Given the description of an element on the screen output the (x, y) to click on. 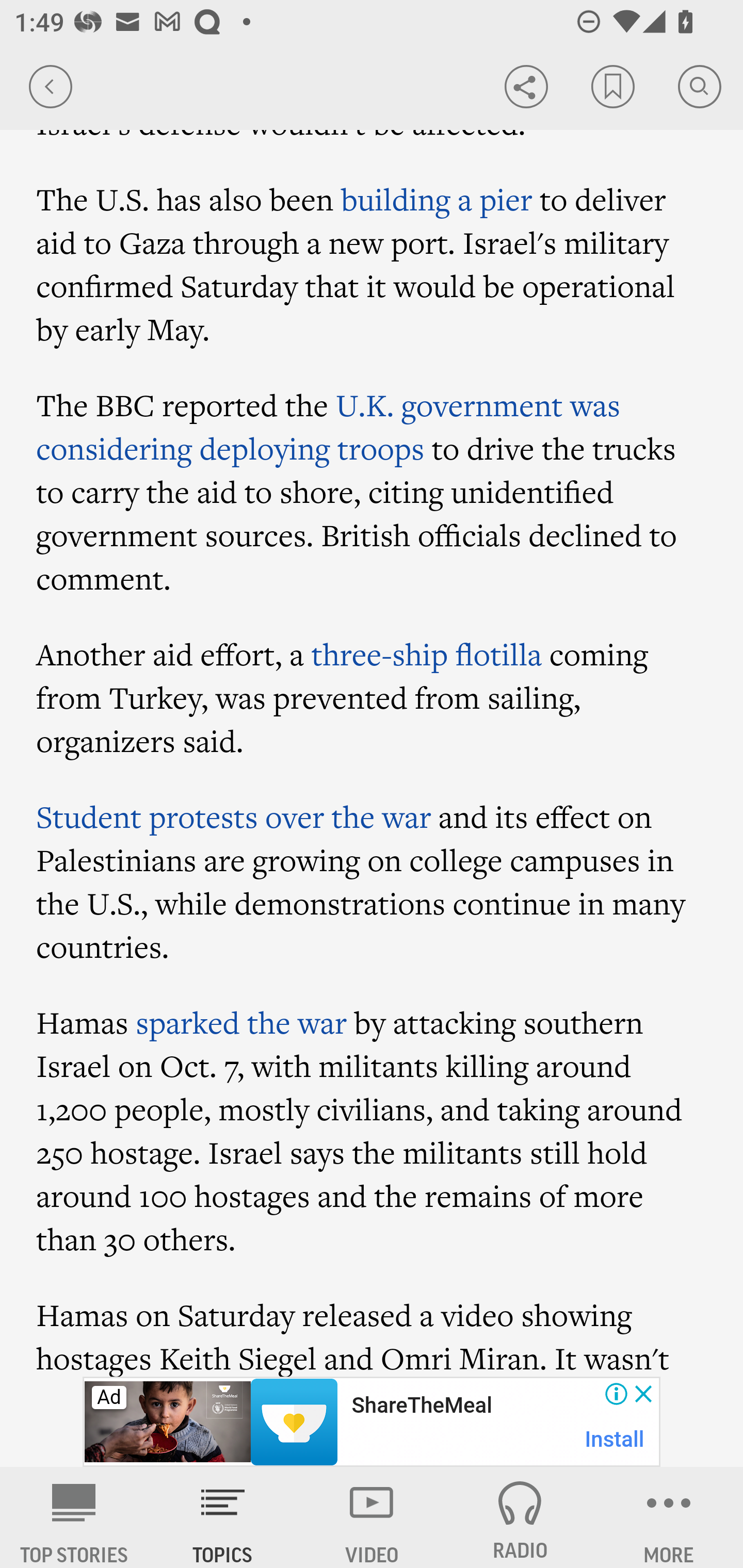
building a pier (435, 199)
U.K. government was considering deploying troops (328, 426)
three-ship flotilla (426, 653)
Student protests over the war (233, 816)
sparked the war (241, 1022)
ShareTheMeal (420, 1405)
Install (614, 1438)
AP News TOP STORIES (74, 1517)
TOPICS (222, 1517)
VIDEO (371, 1517)
RADIO (519, 1517)
MORE (668, 1517)
